Given the description of an element on the screen output the (x, y) to click on. 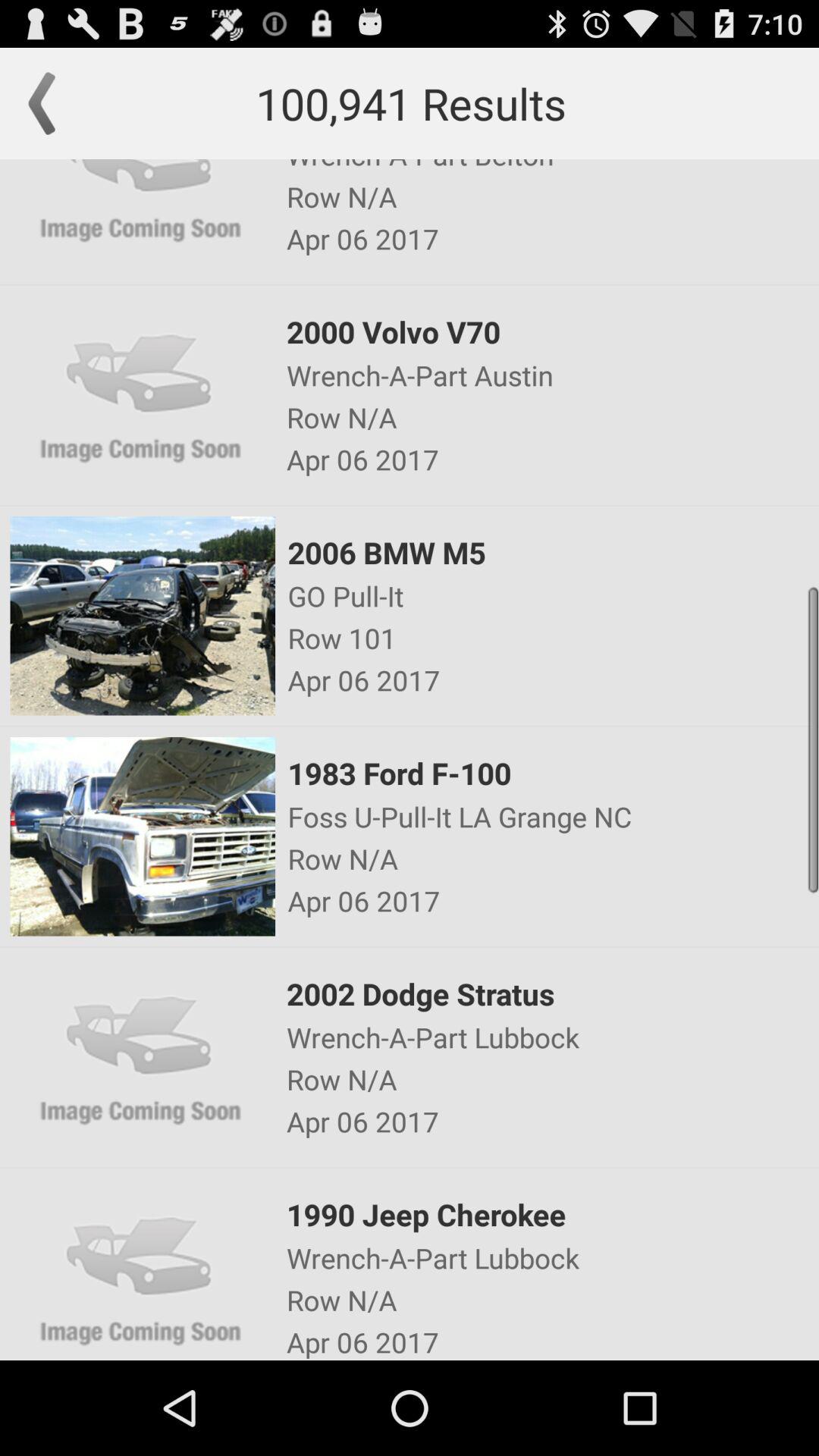
choose icon above the wrench a part item (551, 1214)
